Given the description of an element on the screen output the (x, y) to click on. 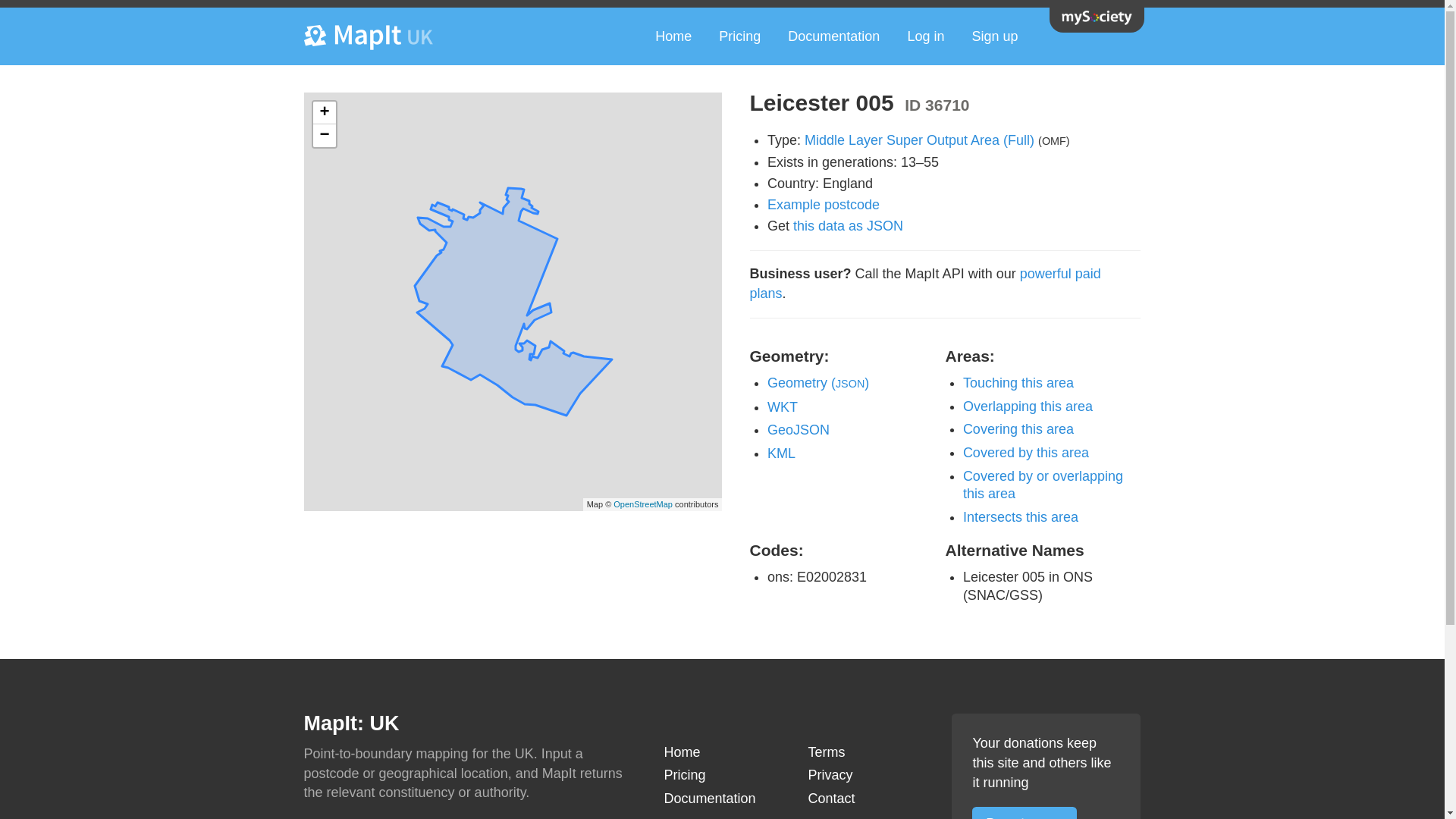
Privacy (866, 775)
Zoom out (323, 135)
Pricing (721, 775)
powerful paid plans (924, 283)
Pricing (739, 36)
Home (721, 752)
Covered by this area (1025, 452)
WKT (782, 406)
Contact (866, 799)
Example postcode (823, 204)
Documentation (721, 799)
Sign up (994, 36)
Overlapping this area (1027, 406)
Documentation (833, 36)
Intersects this area (1020, 516)
